Given the description of an element on the screen output the (x, y) to click on. 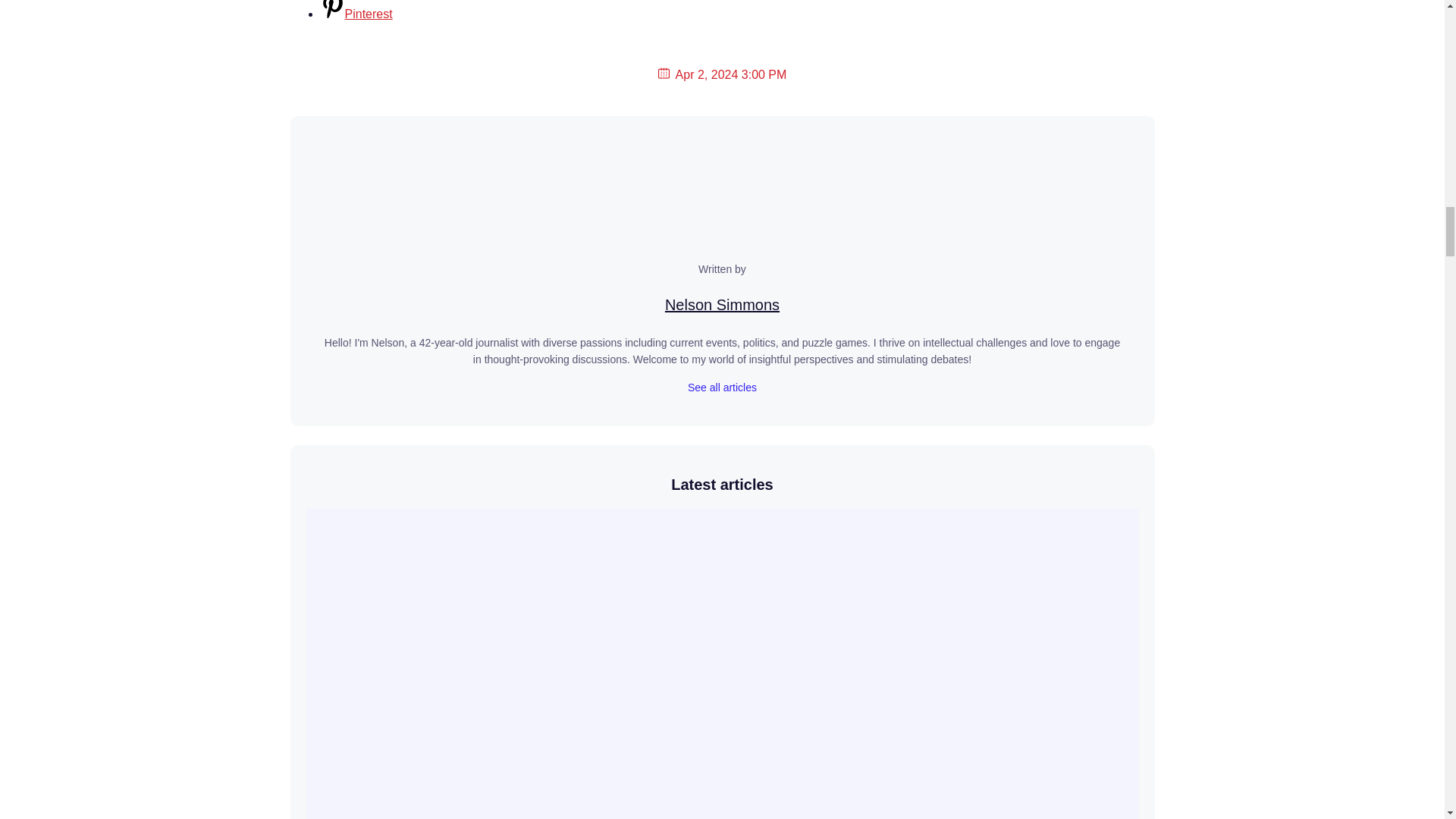
Share on Pinterest (355, 13)
Nelson Simmons (721, 304)
See all articles (722, 387)
Pinterest (355, 13)
